Given the description of an element on the screen output the (x, y) to click on. 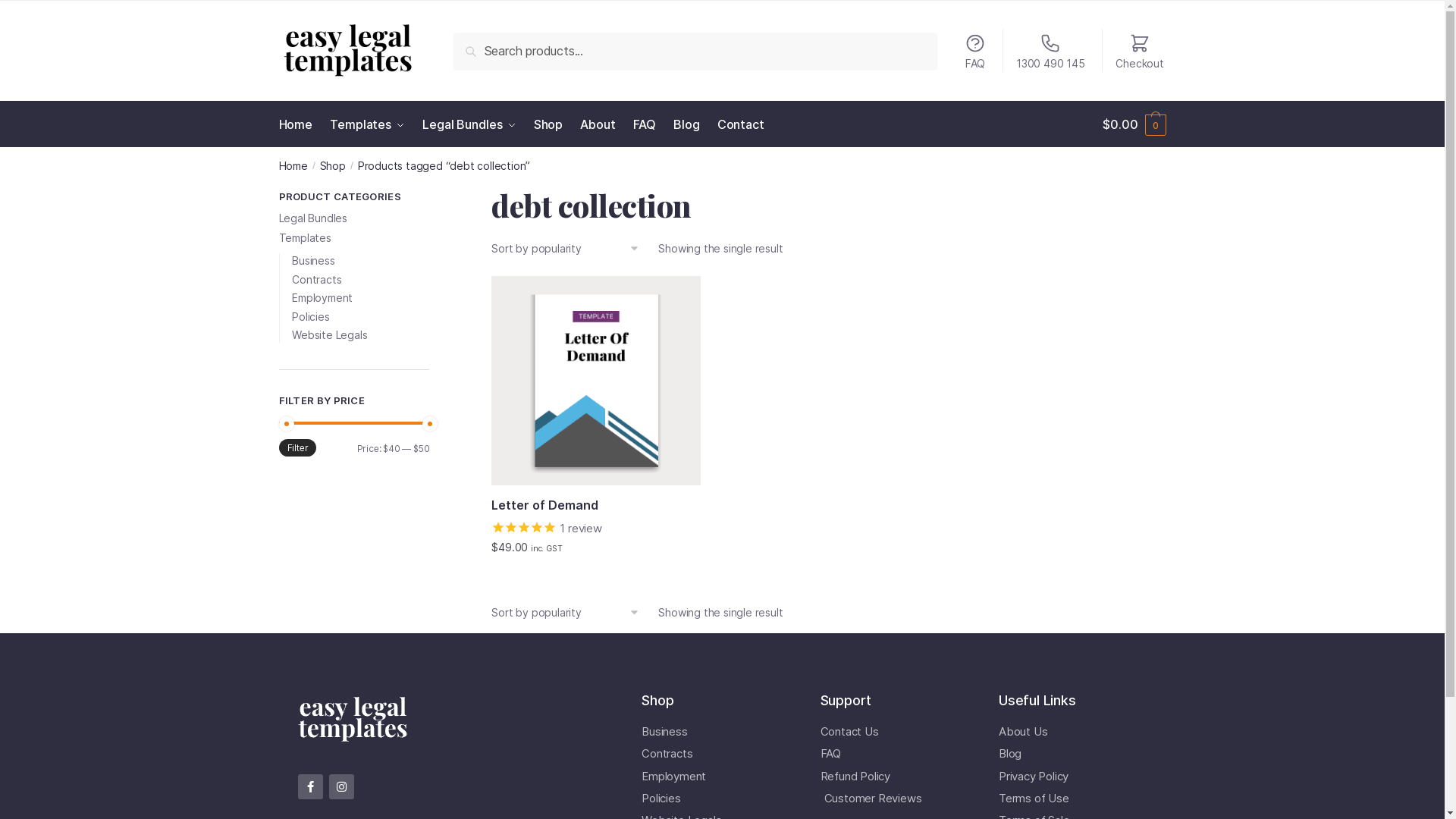
Contracts Element type: text (316, 279)
$0.00 0 Element type: text (1133, 124)
Policies Element type: text (310, 316)
Policies Element type: text (715, 798)
1300 490 145 Element type: text (1050, 50)
Blog Element type: text (1072, 753)
Shop Element type: text (332, 165)
Contact Us Element type: text (894, 731)
Contracts Element type: text (715, 753)
About Us Element type: text (1072, 731)
Templates Element type: text (305, 237)
About Element type: text (597, 124)
FAQ Element type: text (644, 124)
Employment Element type: text (321, 297)
FAQ Element type: text (894, 753)
Privacy Policy Element type: text (1072, 776)
Shop Element type: text (657, 700)
Templates Element type: text (367, 124)
Contact Element type: text (740, 124)
Checkout Element type: text (1139, 50)
Terms of Use Element type: text (1072, 798)
Refund Policy Element type: text (894, 776)
Employment Element type: text (715, 776)
Website Legals Element type: text (329, 334)
Shop Element type: text (548, 124)
Legal Bundles Element type: text (313, 217)
Blog Element type: text (686, 124)
Filter Element type: text (297, 447)
Home Element type: text (293, 165)
Home Element type: text (299, 124)
Customer Reviews Element type: text (894, 798)
Letter of Demand Element type: text (595, 505)
Search Element type: text (476, 42)
Business Element type: text (715, 731)
Legal Bundles Element type: text (468, 124)
FAQ Element type: text (974, 50)
Business Element type: text (312, 260)
